Given the description of an element on the screen output the (x, y) to click on. 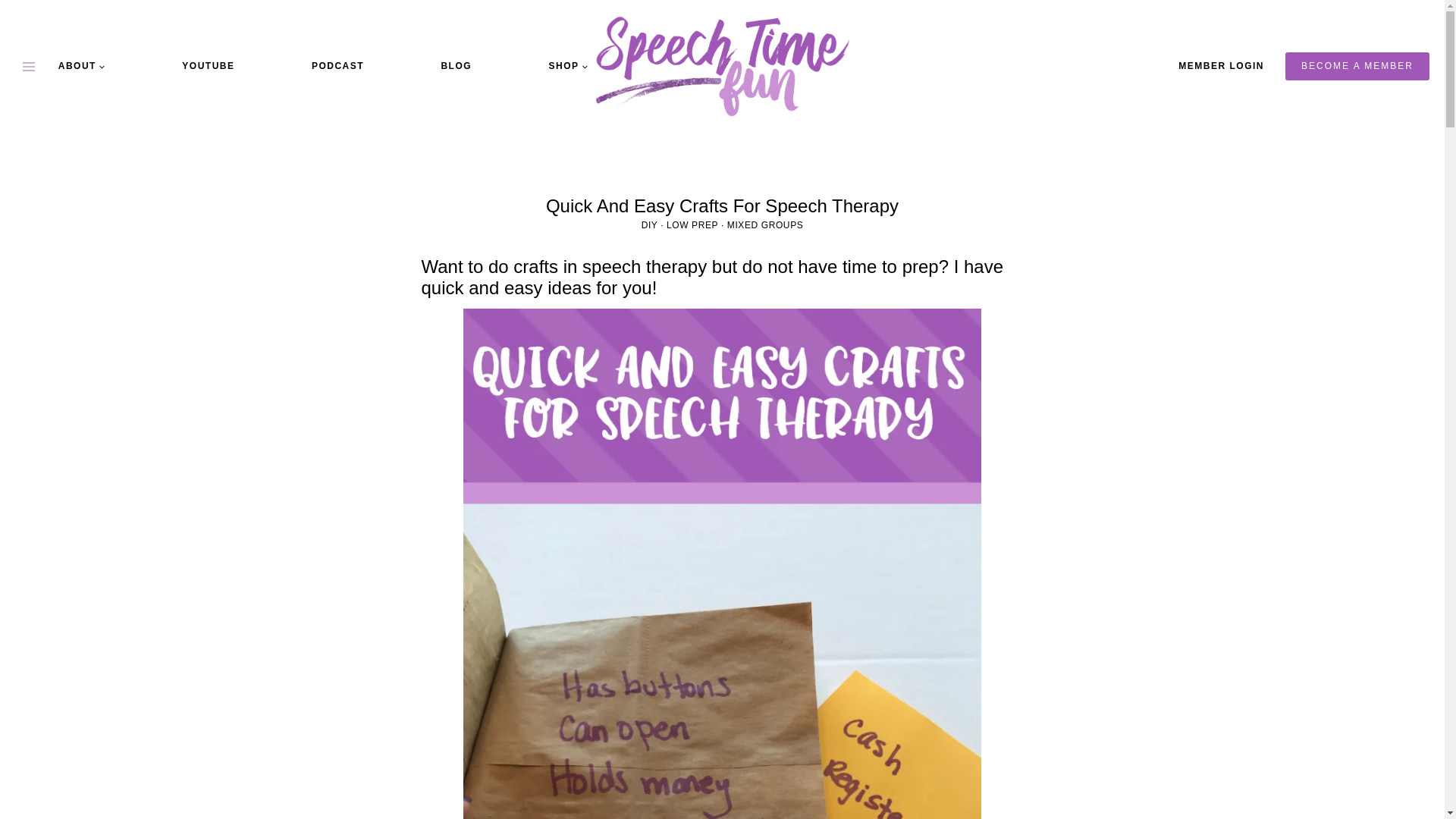
LOW PREP (691, 225)
MIXED GROUPS (764, 225)
MEMBER LOGIN (1221, 65)
ABOUT (81, 65)
PODCAST (337, 65)
BECOME A MEMBER (1357, 65)
YOUTUBE (207, 65)
SHOP (567, 65)
DIY (650, 225)
